Given the description of an element on the screen output the (x, y) to click on. 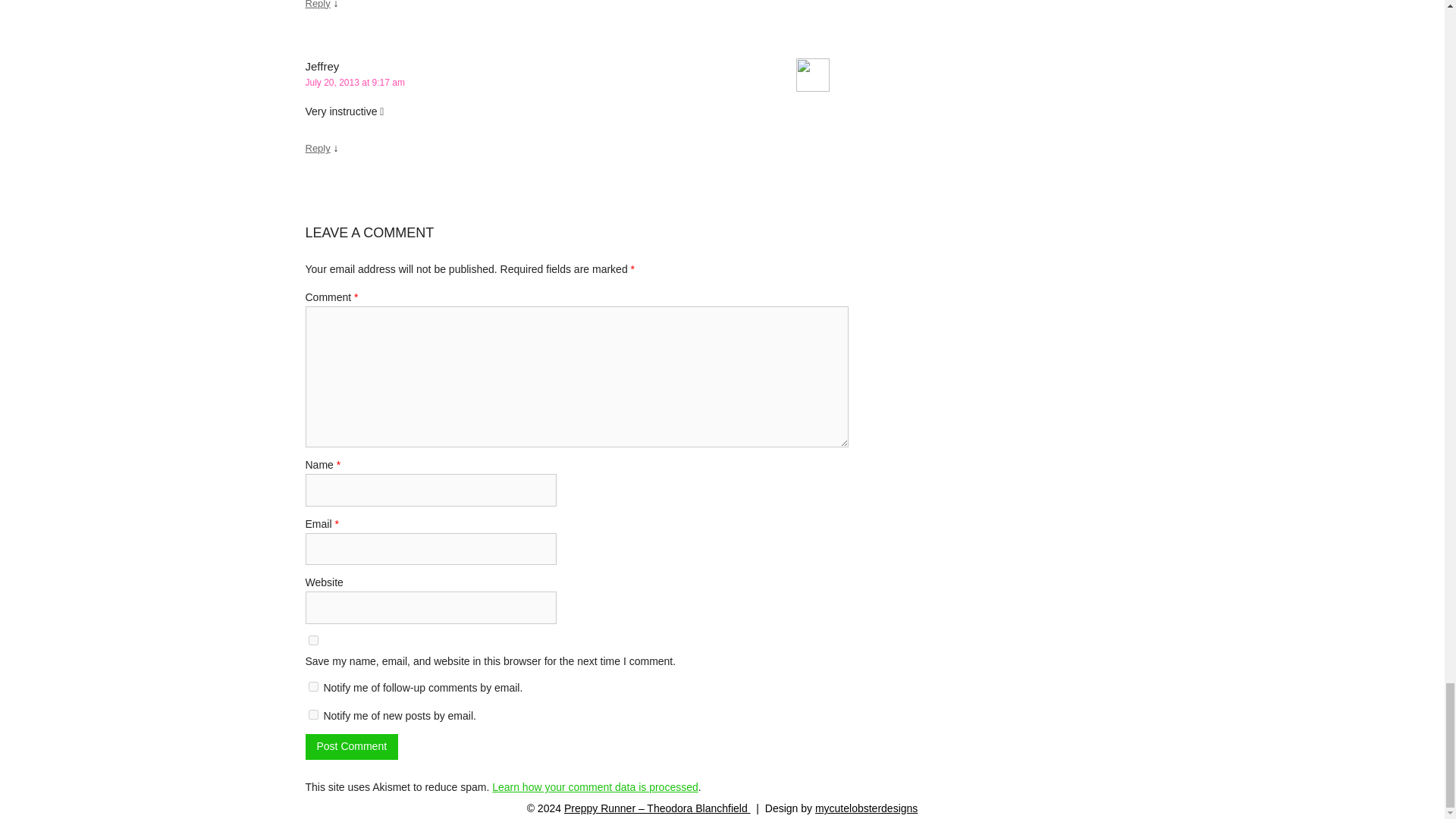
yes (312, 640)
subscribe (312, 714)
Post Comment (350, 746)
subscribe (312, 686)
